Given the description of an element on the screen output the (x, y) to click on. 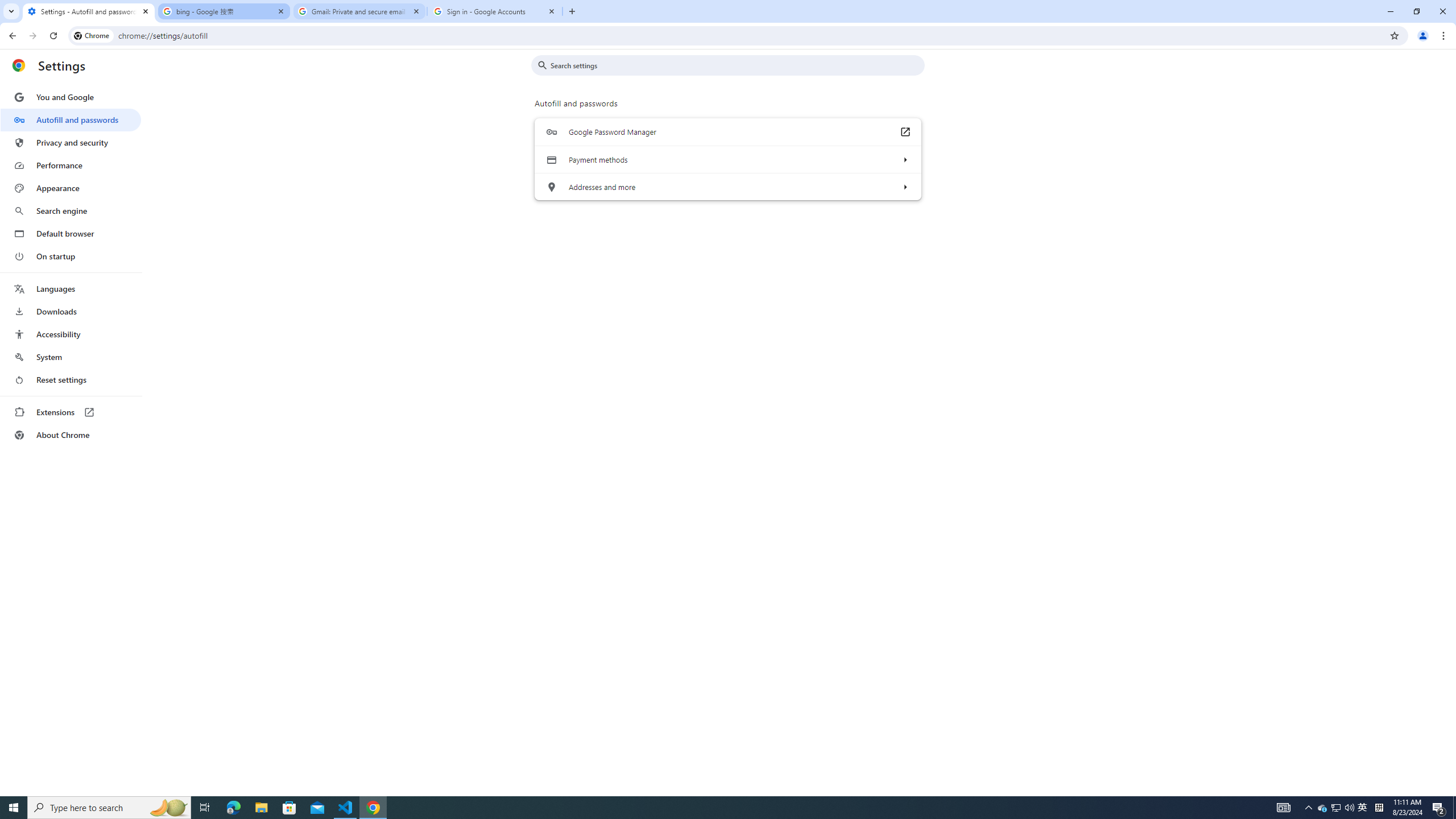
 Bing Bing https://www.bing.com (142, 171)
Maps (154, 300)
 Bing Bunny: Home bingbunny.com https://uk.bingbunny.com (178, 803)
Image Creator (177, 262)
Settings - Autofill and passwords (88, 11)
